Given the description of an element on the screen output the (x, y) to click on. 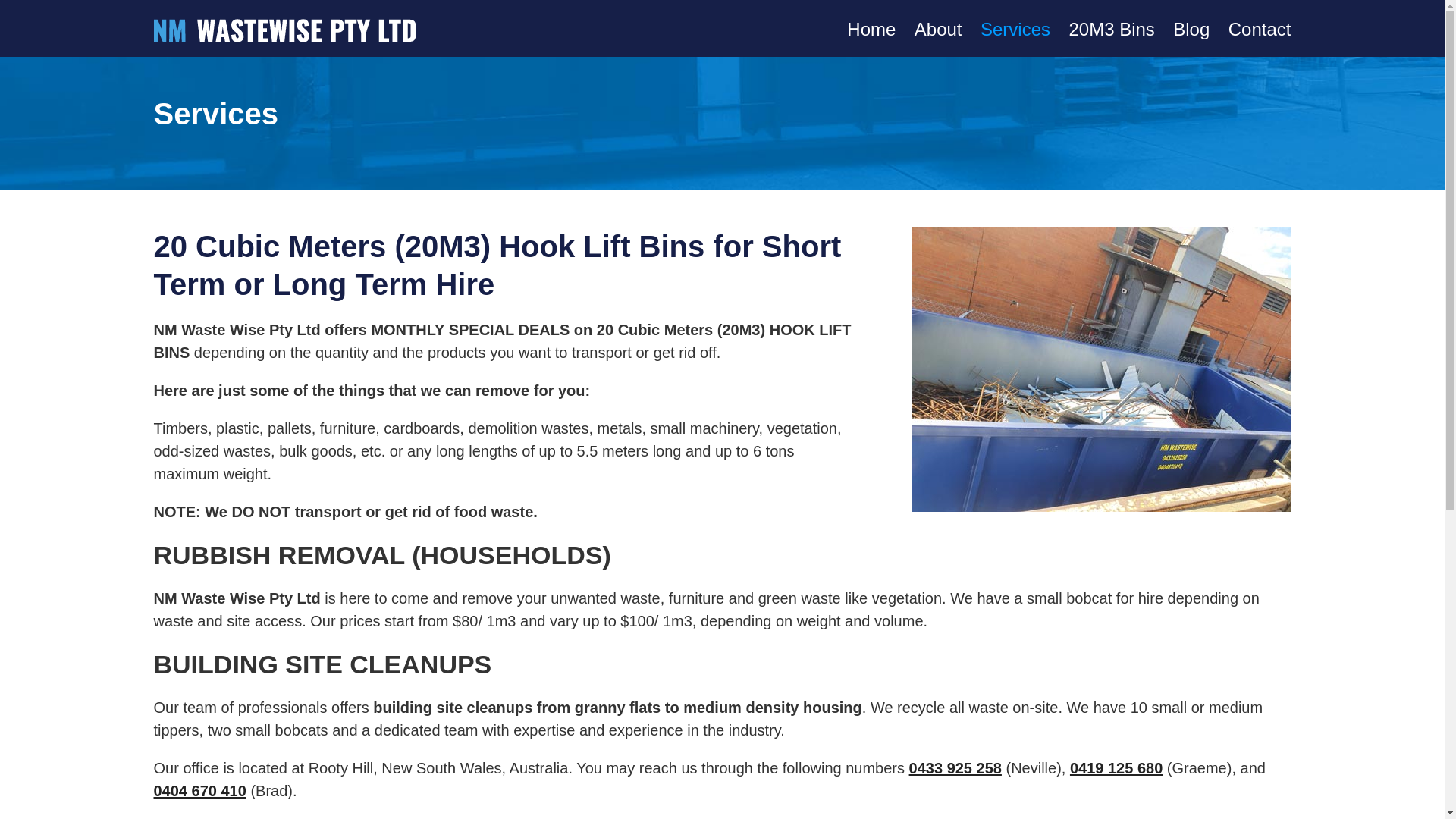
About (938, 28)
0404 670 410 (199, 790)
20M3 Bins (1111, 28)
Home (871, 28)
Contact (1259, 28)
0433 925 258 (954, 768)
Blog (1191, 28)
0419 125 680 (1115, 768)
Services (1014, 28)
